Given the description of an element on the screen output the (x, y) to click on. 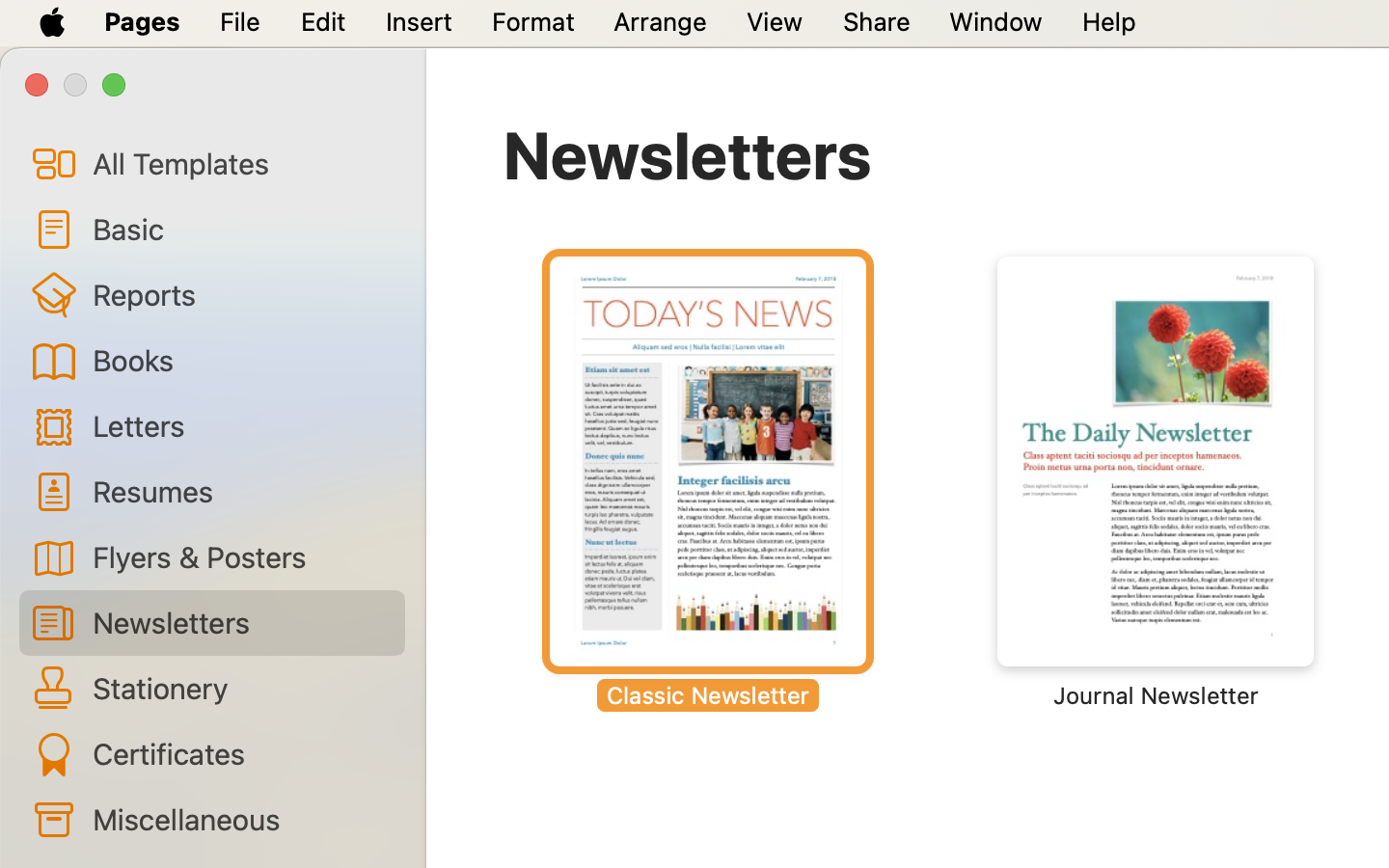
Books Element type: AXStaticText (240, 359)
Certificates Element type: AXStaticText (240, 752)
Reports Element type: AXStaticText (240, 293)
